Given the description of an element on the screen output the (x, y) to click on. 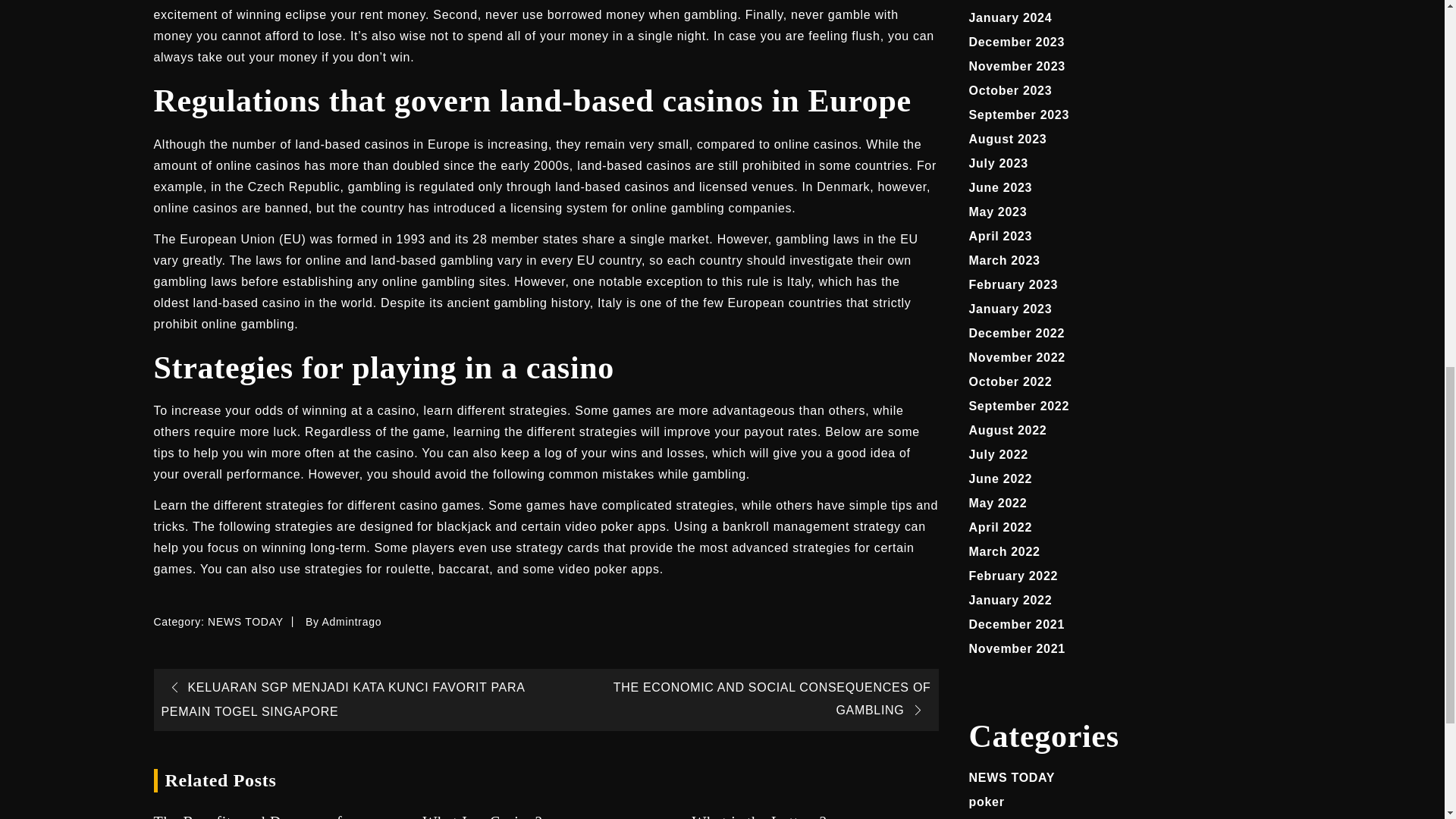
The Benefits and Dangers of Gambling (275, 815)
November 2023 (1017, 65)
February 2023 (1013, 284)
November 2022 (1017, 357)
December 2023 (1017, 42)
September 2023 (1019, 114)
THE ECONOMIC AND SOCIAL CONSEQUENCES OF GAMBLING (771, 698)
June 2023 (1000, 187)
July 2023 (998, 163)
What is the Lottery? (814, 815)
March 2023 (1005, 259)
October 2023 (1010, 90)
What Is a Casino? (545, 815)
May 2023 (998, 211)
December 2022 (1017, 332)
